Given the description of an element on the screen output the (x, y) to click on. 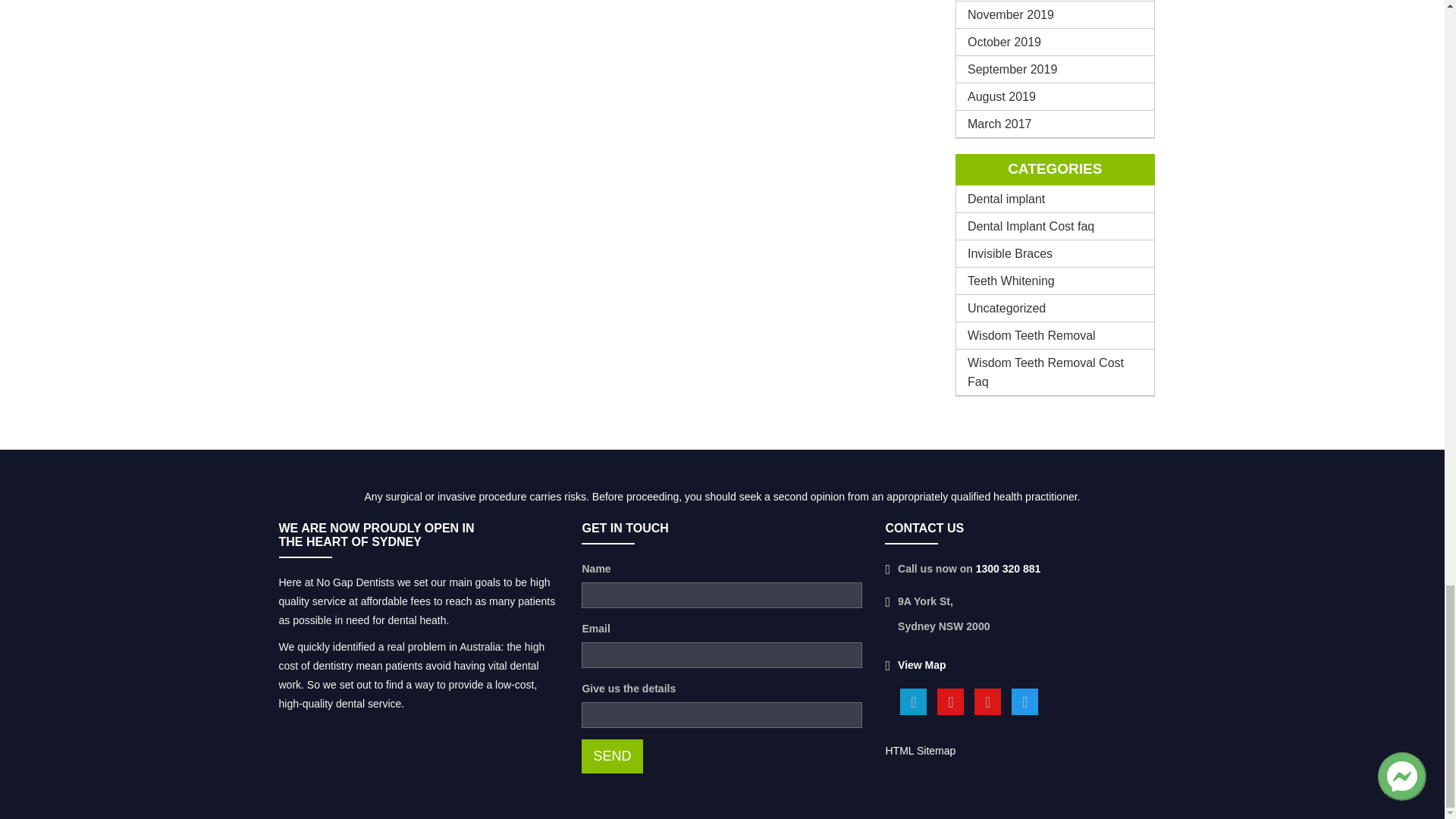
SEND (611, 756)
